Given the description of an element on the screen output the (x, y) to click on. 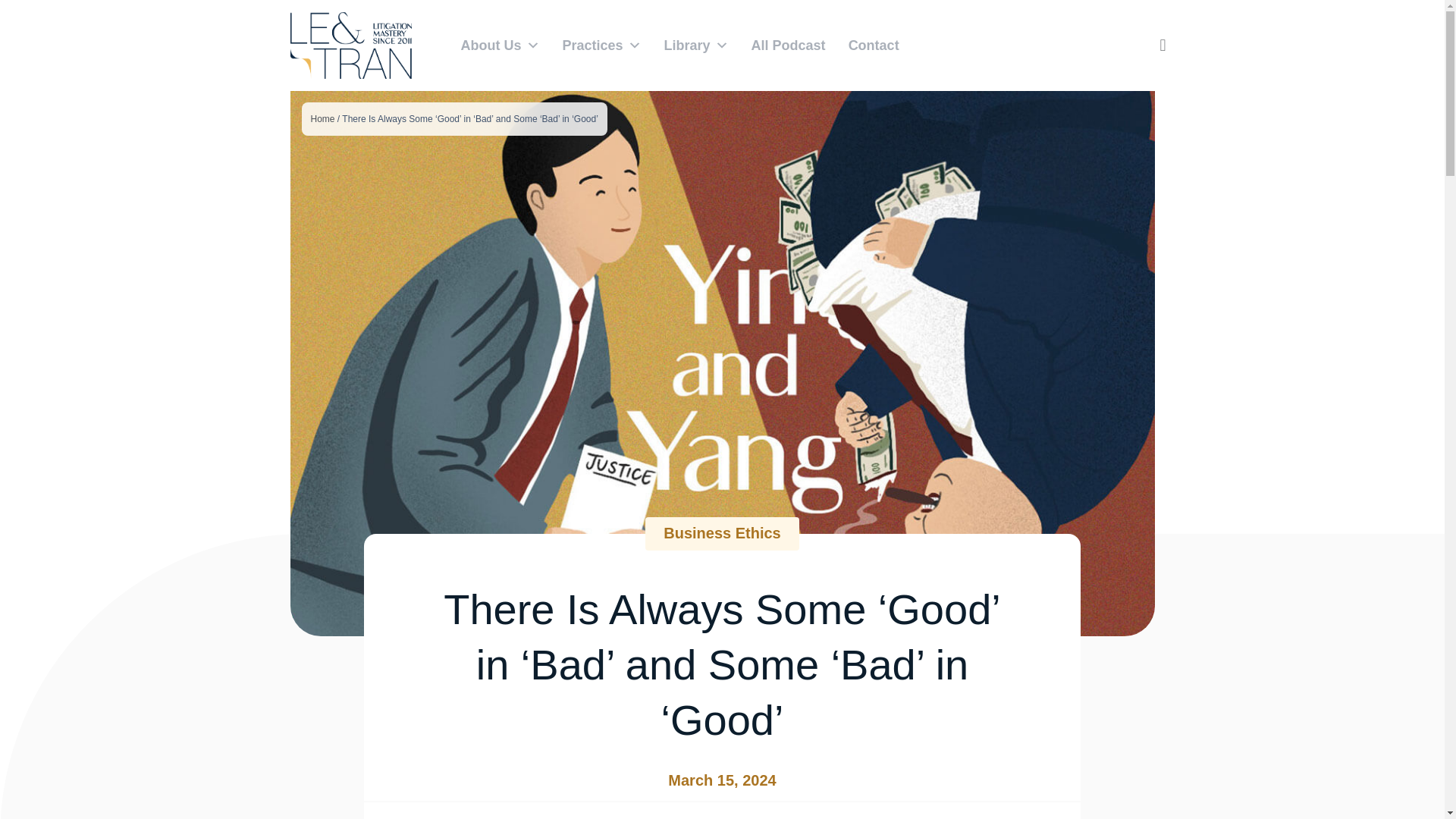
Practices (601, 45)
Business Ethics (722, 532)
About Us (499, 45)
